Given the description of an element on the screen output the (x, y) to click on. 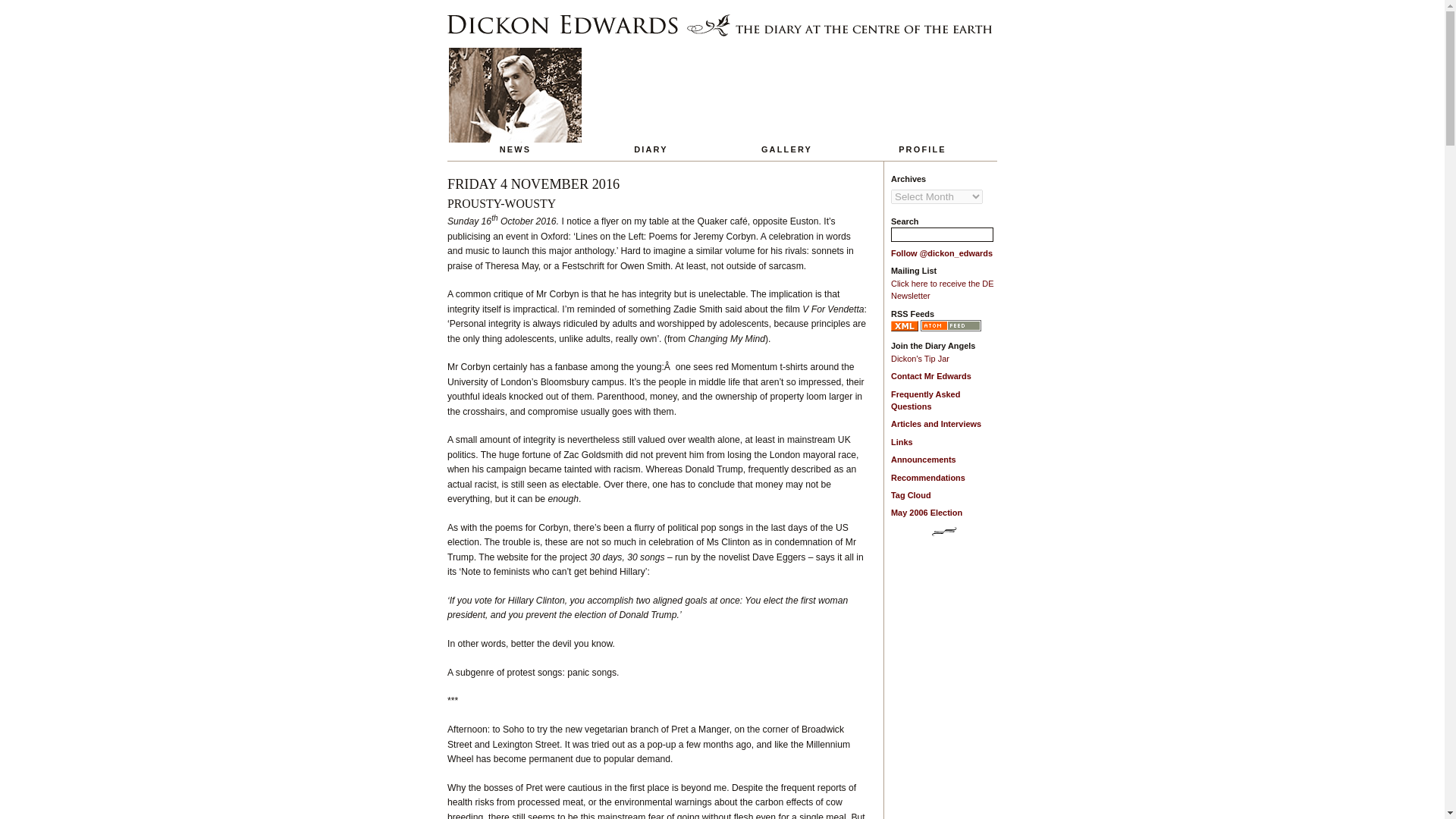
Articles and Interviews (936, 423)
DIARY (651, 100)
May 2006 Election (926, 511)
Tag Cloud (911, 494)
Contact Mr Edwards (931, 375)
GALLERY (786, 100)
NEWS (514, 100)
Links (901, 441)
Announcements (923, 459)
Frequently Asked Questions (925, 400)
PROFILE (922, 100)
Dickon's Tip Jar (920, 358)
FRIDAY 4 NOVEMBER 2016 (533, 183)
Click here to receive the DE Newsletter (942, 289)
Recommendations (928, 477)
